Given the description of an element on the screen output the (x, y) to click on. 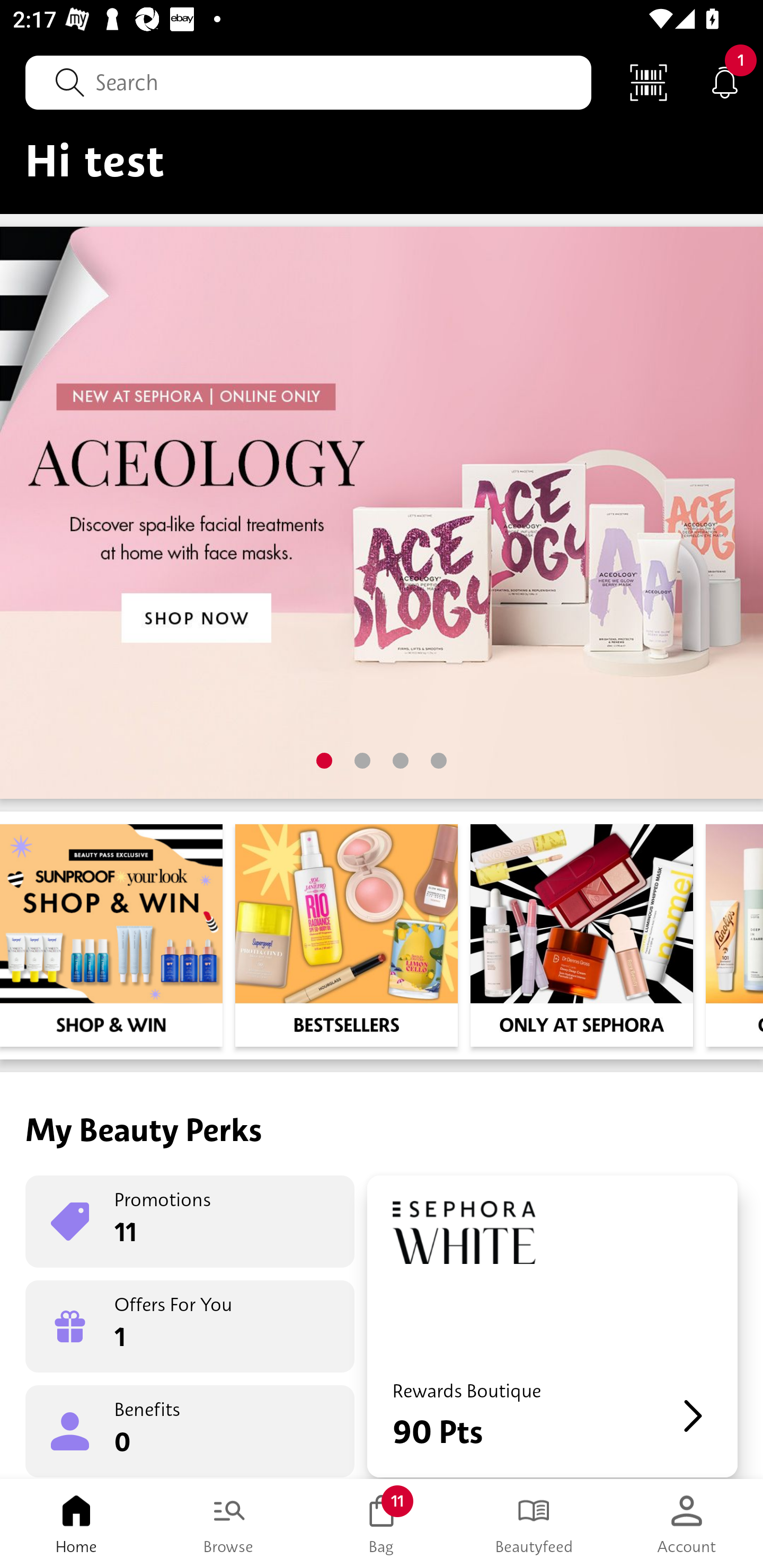
Scan Code (648, 81)
Notifications (724, 81)
Search (308, 81)
Promotions 11 (189, 1221)
Rewards Boutique 90 Pts (552, 1326)
Offers For You 1 (189, 1326)
Benefits 0 (189, 1430)
Browse (228, 1523)
Bag 11 Bag (381, 1523)
Beautyfeed (533, 1523)
Account (686, 1523)
